Given the description of an element on the screen output the (x, y) to click on. 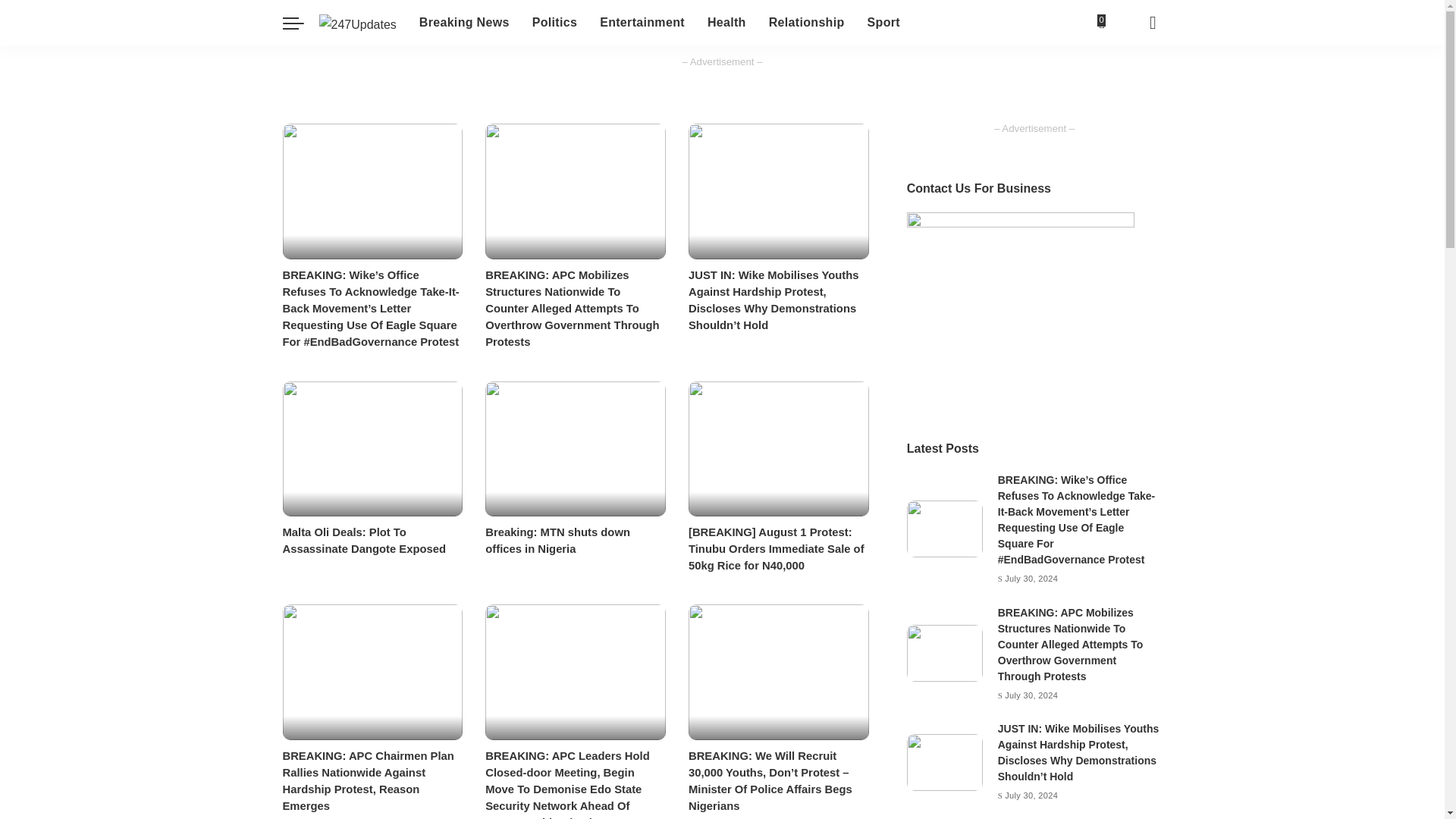
247Updates (357, 22)
Breaking News (464, 22)
Politics (554, 22)
